Given the description of an element on the screen output the (x, y) to click on. 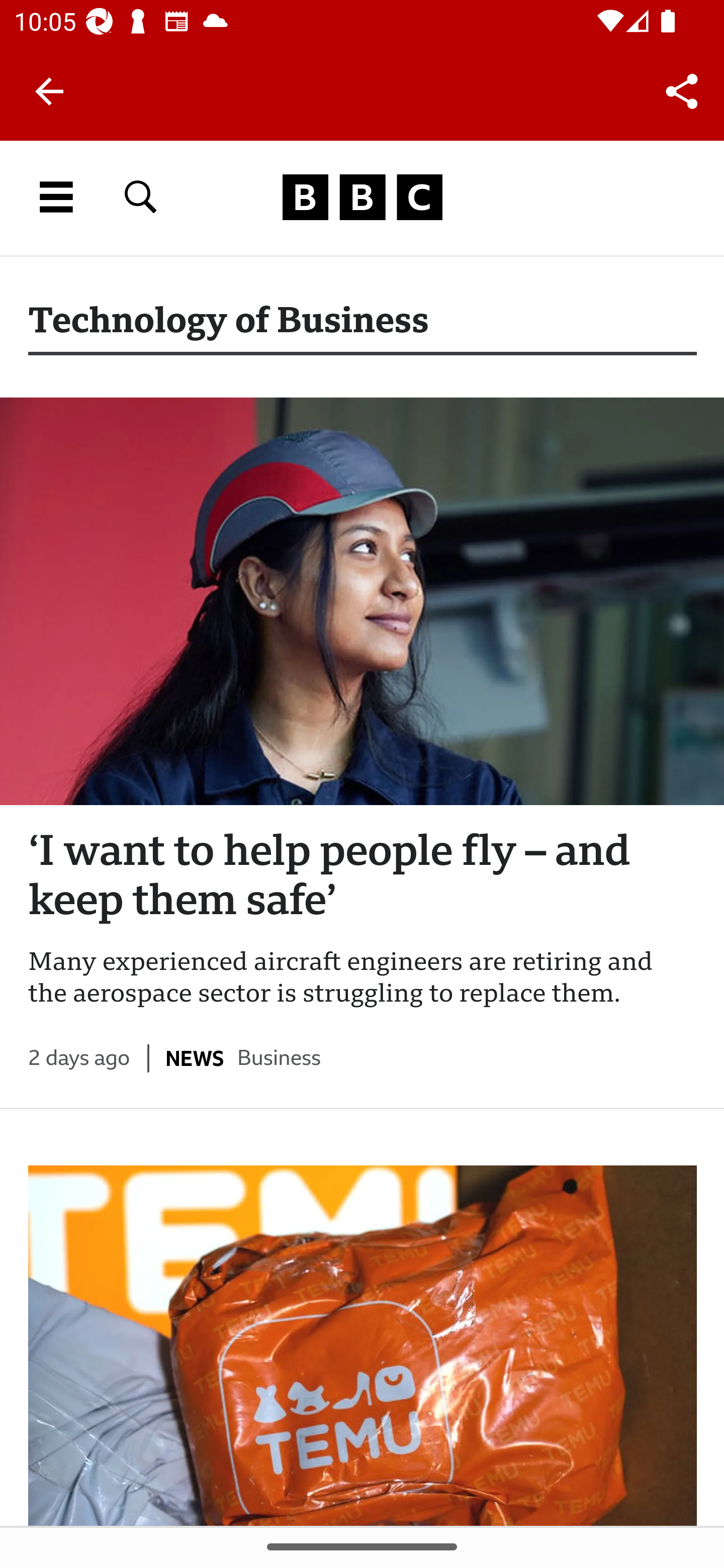
Back (49, 91)
Share (681, 90)
www.bbc (362, 196)
